Given the description of an element on the screen output the (x, y) to click on. 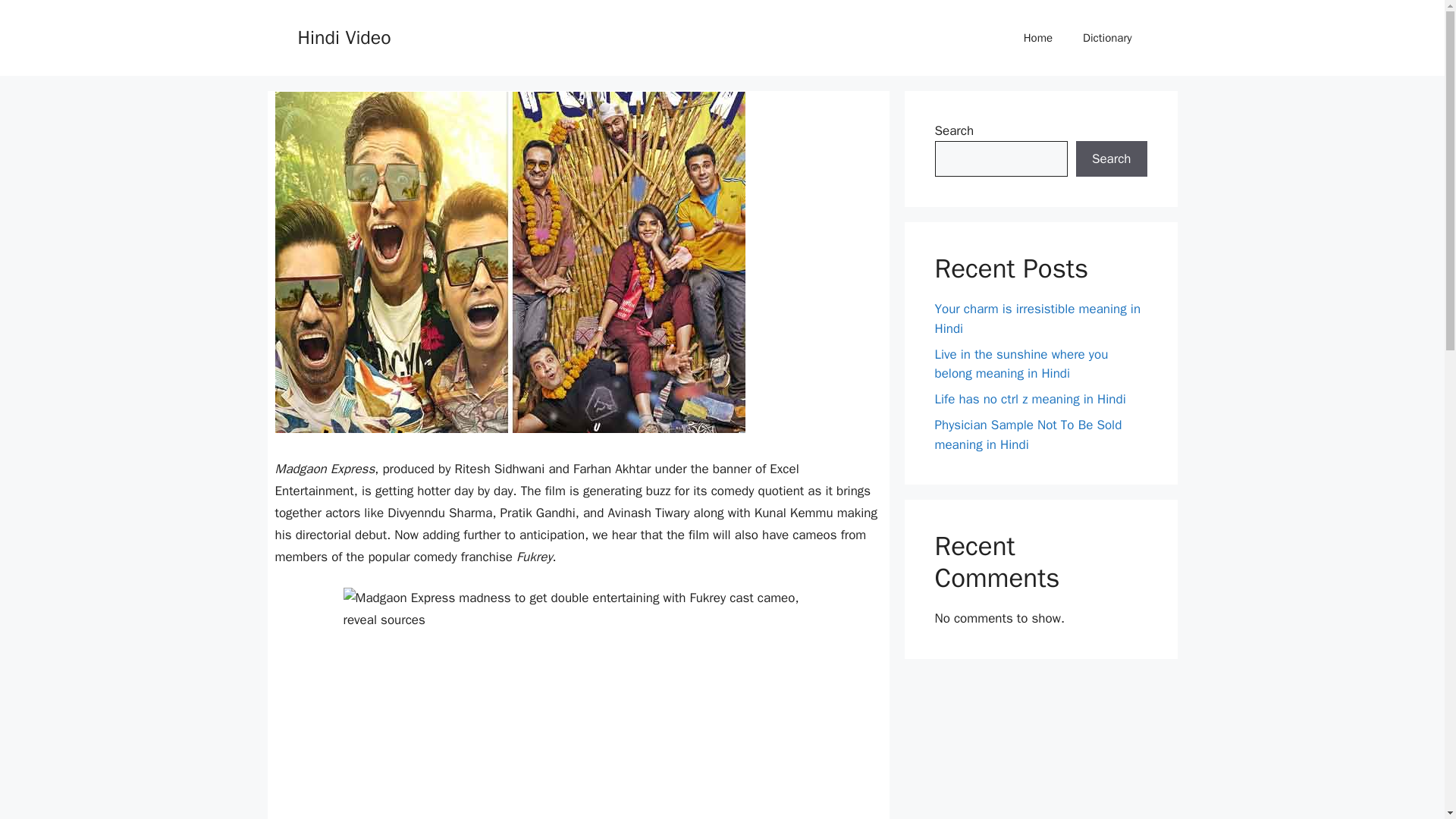
Home (1038, 37)
Physician Sample Not To Be Sold meaning in Hindi (1027, 434)
Life has no ctrl z meaning in Hindi (1029, 399)
Live in the sunshine where you belong meaning in Hindi (1021, 363)
Hindi Video (343, 37)
Your charm is irresistible meaning in Hindi (1037, 318)
Dictionary (1107, 37)
Search (1111, 158)
